Given the description of an element on the screen output the (x, y) to click on. 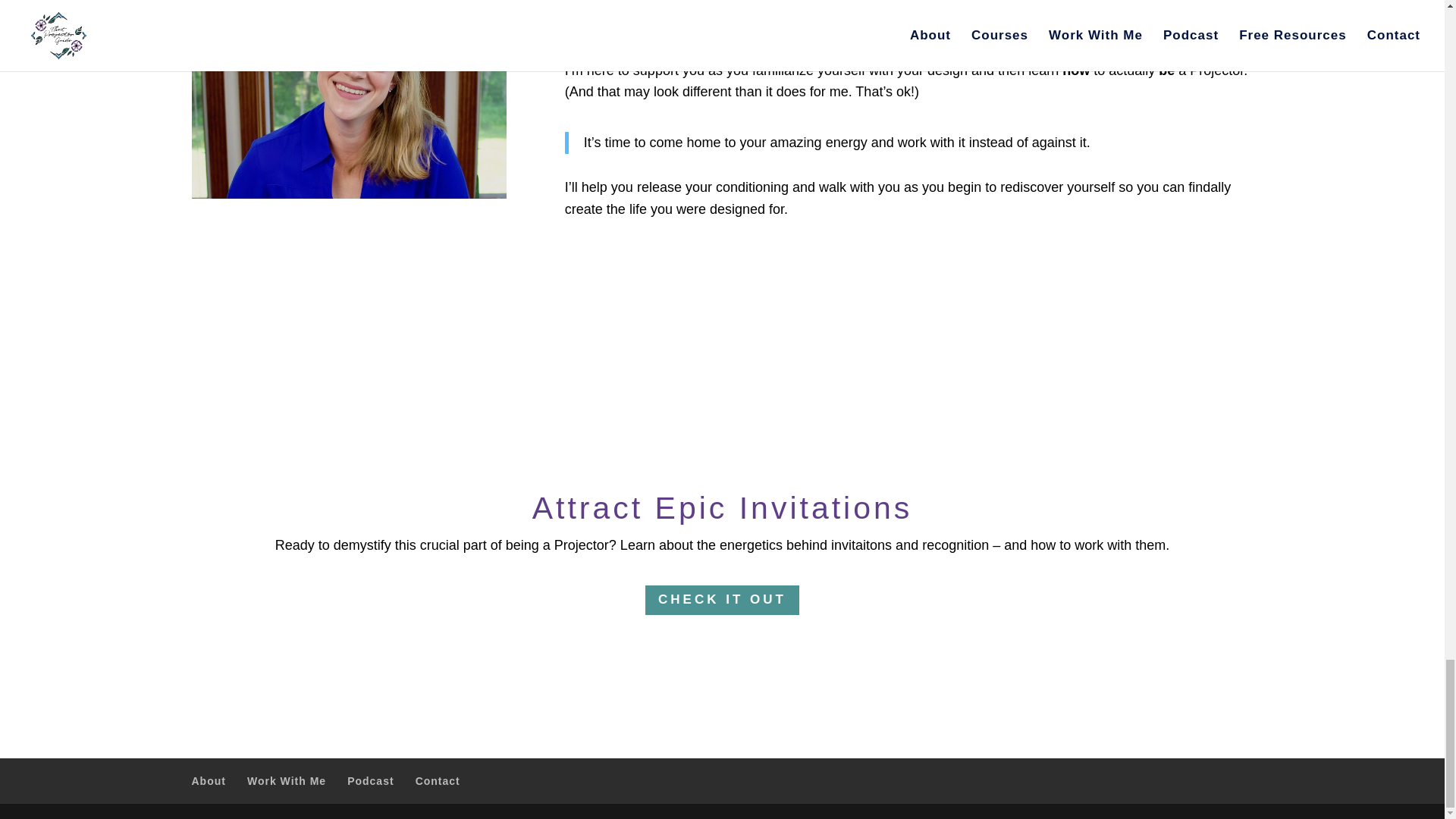
CHECK IT OUT (722, 600)
Podcast (370, 780)
Work With Me (286, 780)
Contact (437, 780)
About (207, 780)
Ardelia Lee Standing Desk Cropped copy (347, 166)
